Given the description of an element on the screen output the (x, y) to click on. 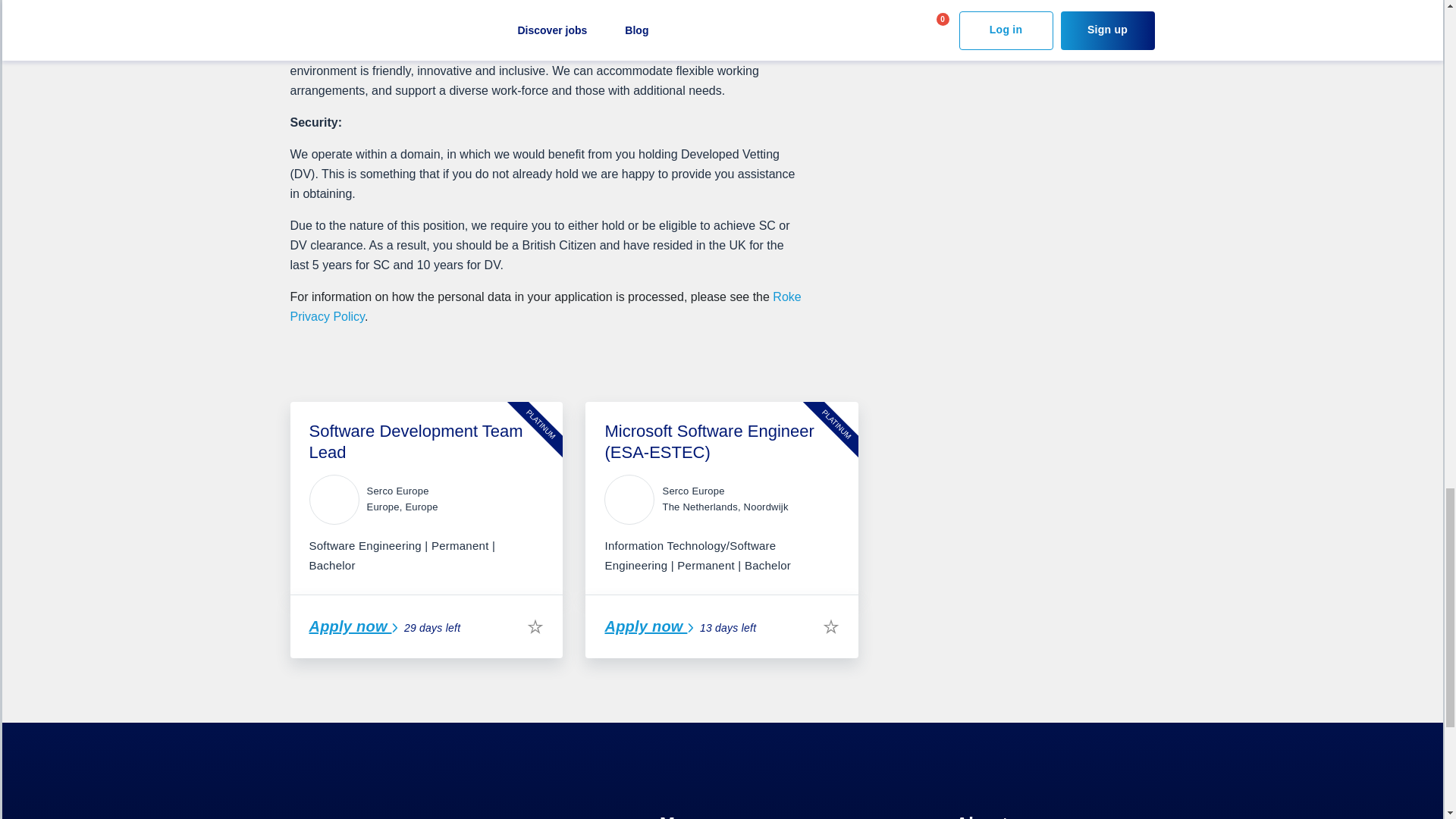
Roke Privacy Policy (544, 306)
Software Development Team Lead (415, 441)
Space Defence Security Jobs Footer Logo (380, 812)
